Given the description of an element on the screen output the (x, y) to click on. 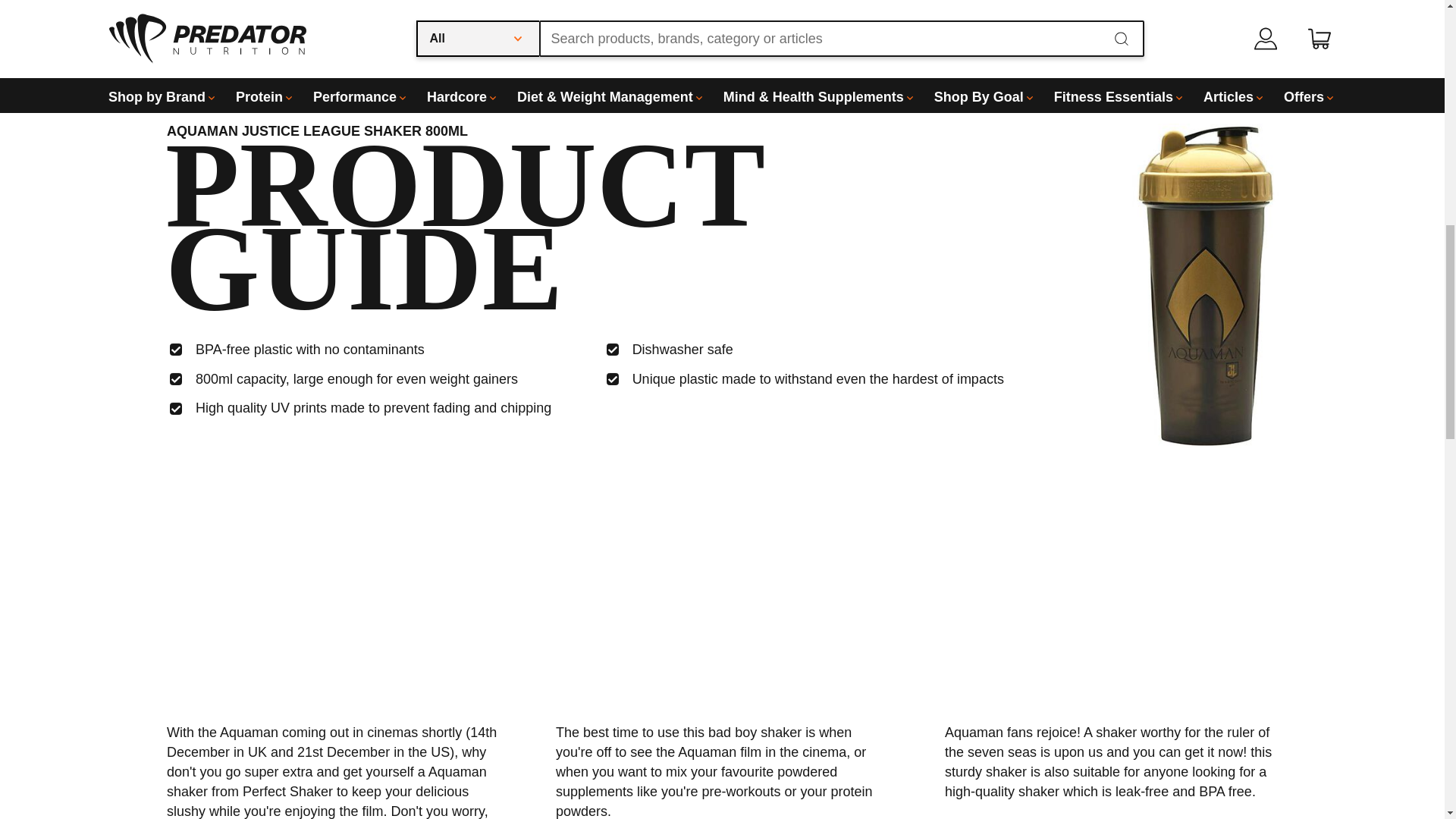
Reviews (244, 19)
You might also like (543, 19)
Similar items (371, 19)
Product guide (113, 19)
